Given the description of an element on the screen output the (x, y) to click on. 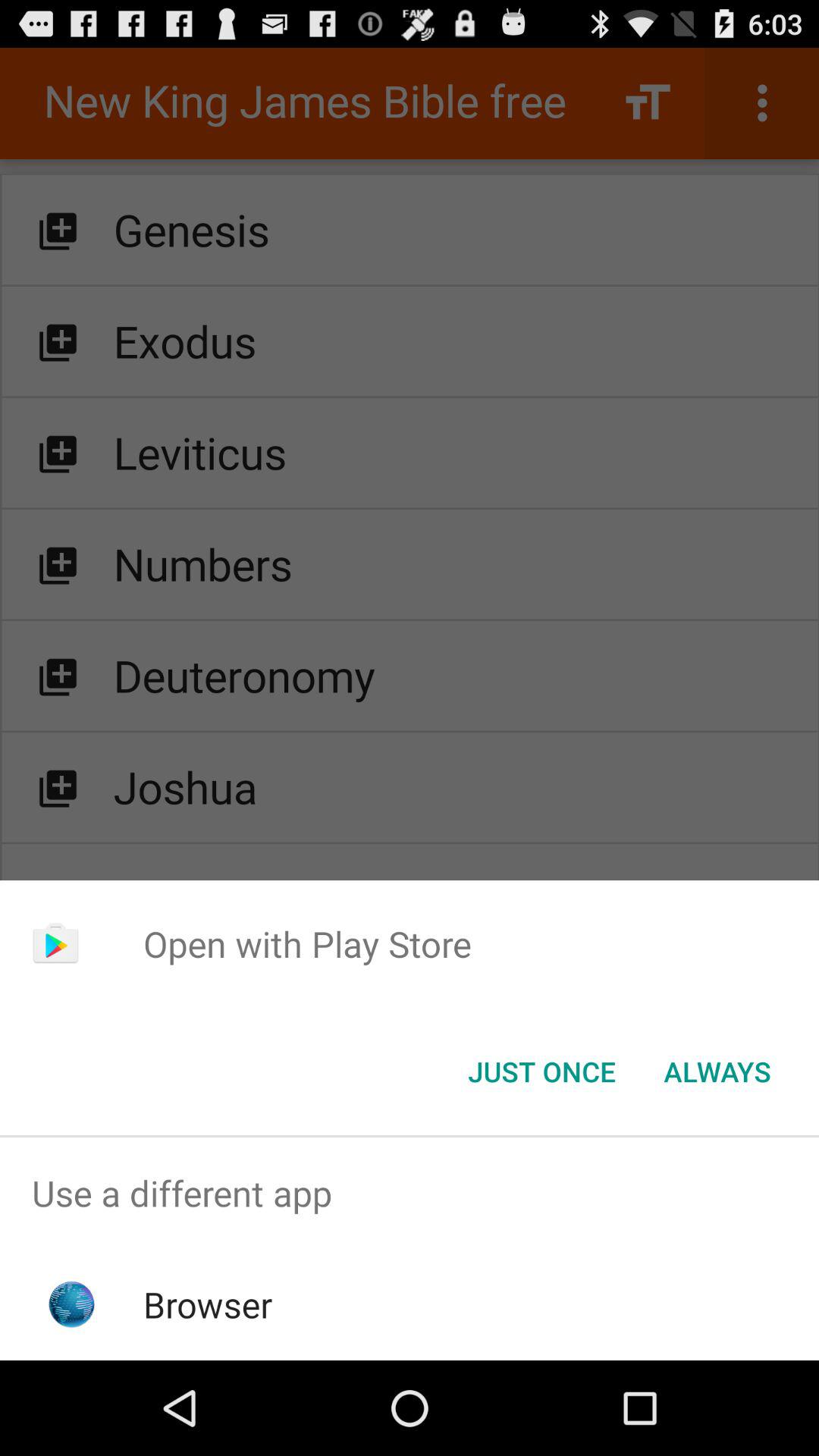
turn off button at the bottom right corner (717, 1071)
